Given the description of an element on the screen output the (x, y) to click on. 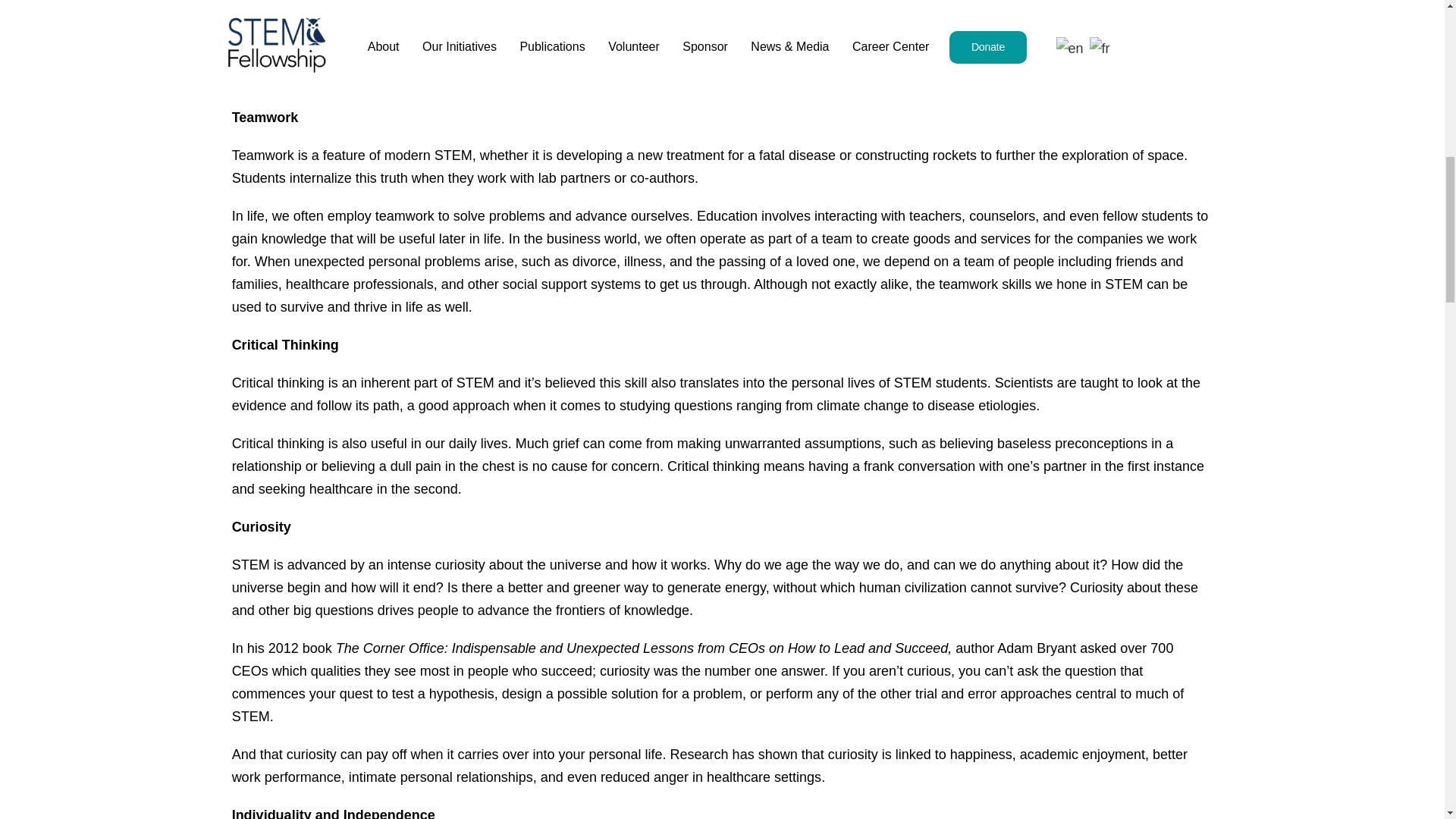
linked to happiness (953, 754)
piece by the Home School Hub suggests (720, 67)
reduced anger in healthcare settings (710, 776)
better work performance (709, 765)
Critical thinking (280, 443)
academic enjoyment (1082, 754)
intimate personal relationships (440, 776)
Adam Bryant asked over 700 CEOs (702, 659)
